Given the description of an element on the screen output the (x, y) to click on. 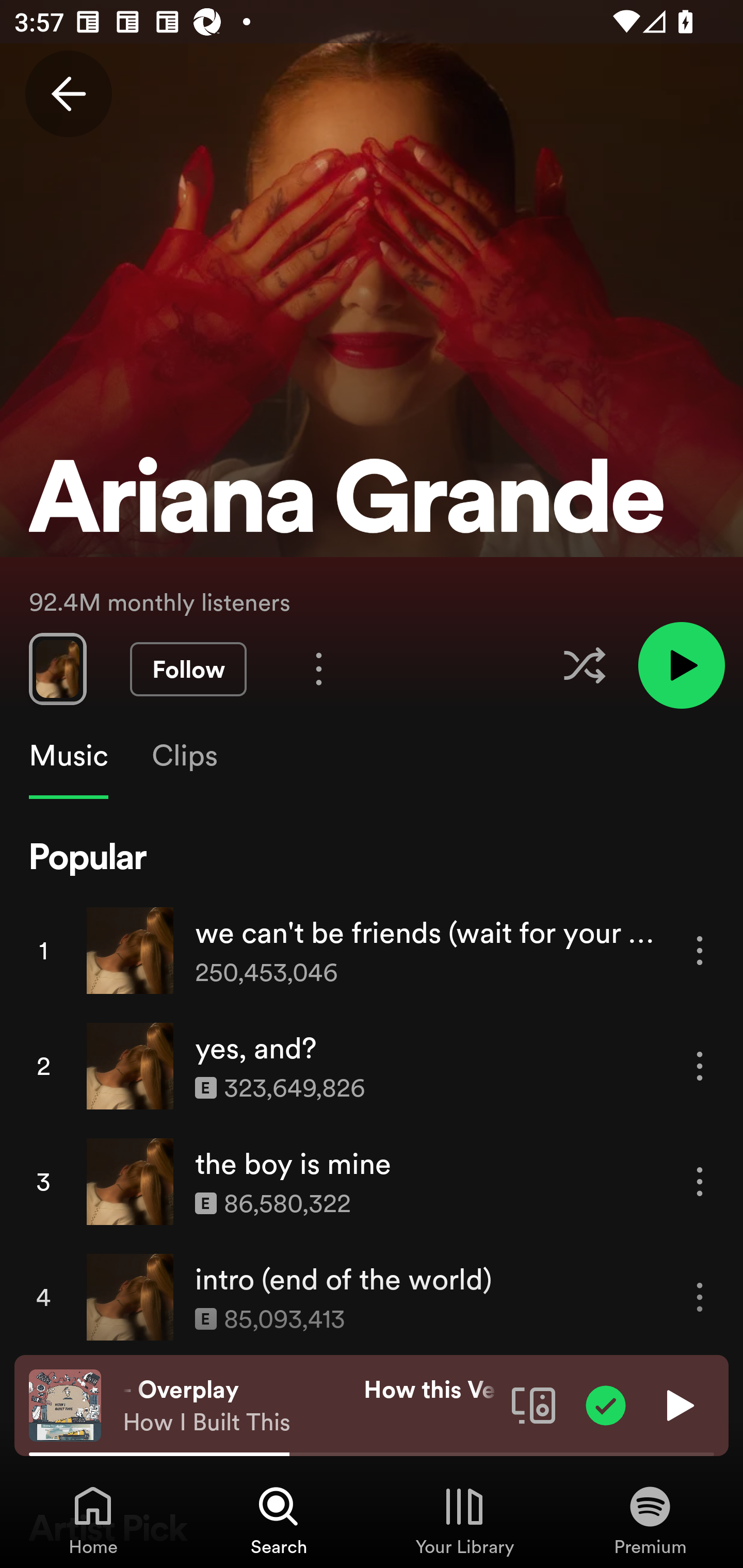
Back (68, 93)
Play artist (681, 664)
Enable shuffle for this artist (583, 665)
Swipe through previews of tracks from this artist. (57, 668)
More options for artist Ariana Grande (318, 668)
Follow (188, 669)
Clips (184, 755)
More options for song yes, and? (699, 1066)
More options for song the boy is mine (699, 1181)
More options for song intro (end of the world) (699, 1297)
The cover art of the currently playing track (64, 1404)
Connect to a device. Opens the devices menu (533, 1404)
Item added (605, 1404)
Play (677, 1404)
Home, Tab 1 of 4 Home Home (92, 1519)
Search, Tab 2 of 4 Search Search (278, 1519)
Your Library, Tab 3 of 4 Your Library Your Library (464, 1519)
Premium, Tab 4 of 4 Premium Premium (650, 1519)
